Given the description of an element on the screen output the (x, y) to click on. 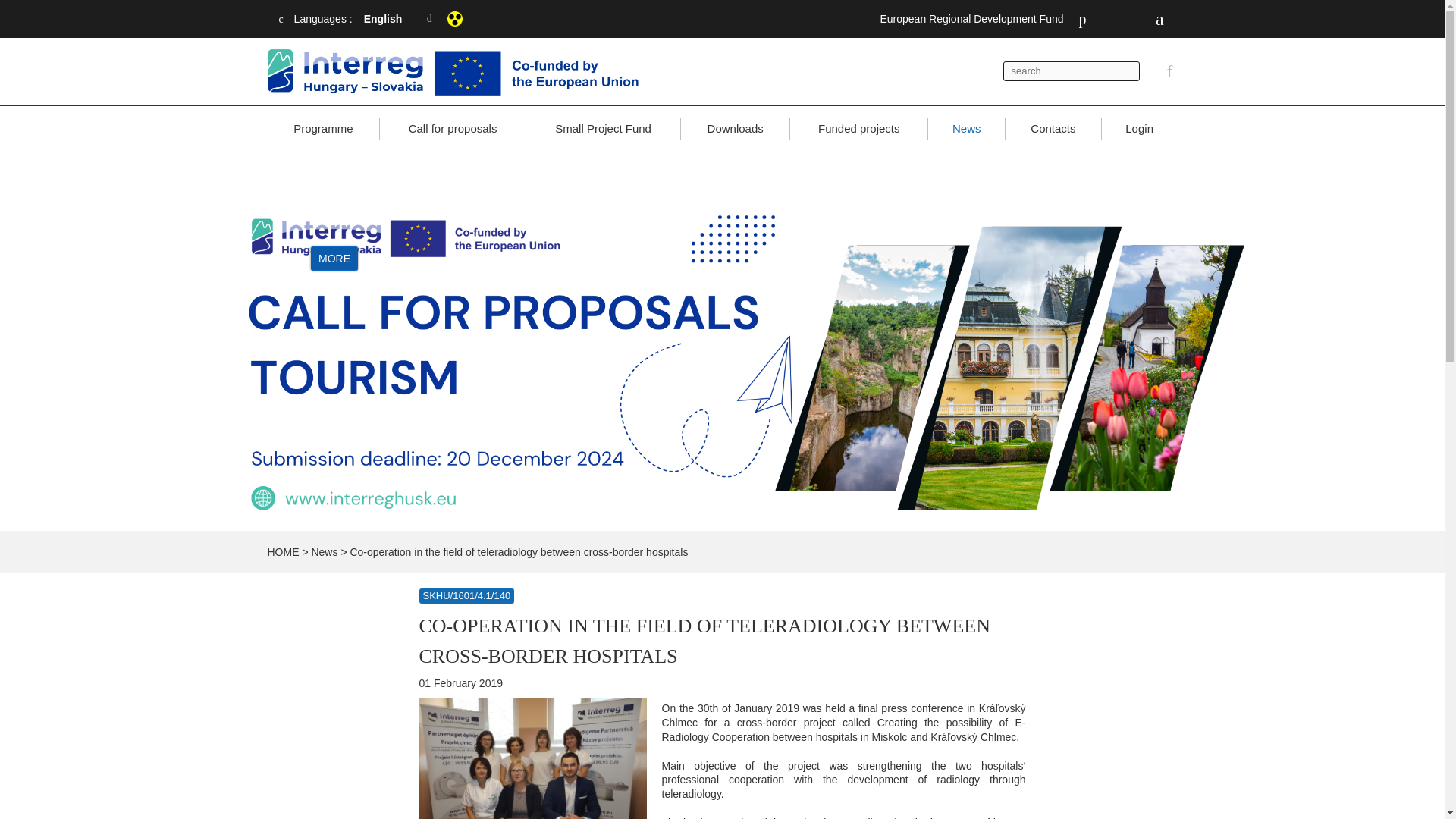
News (966, 128)
Small Project Fund (602, 128)
Small Project Fund (602, 128)
Call for proposals (452, 128)
Programme (322, 128)
Downloads (735, 128)
Login (1139, 128)
Contacts (1053, 128)
Programme (322, 128)
Funded projects (858, 128)
English (394, 18)
Login (1139, 128)
Funded projects (858, 128)
Call for proposals (452, 128)
Downloads (735, 128)
